Given the description of an element on the screen output the (x, y) to click on. 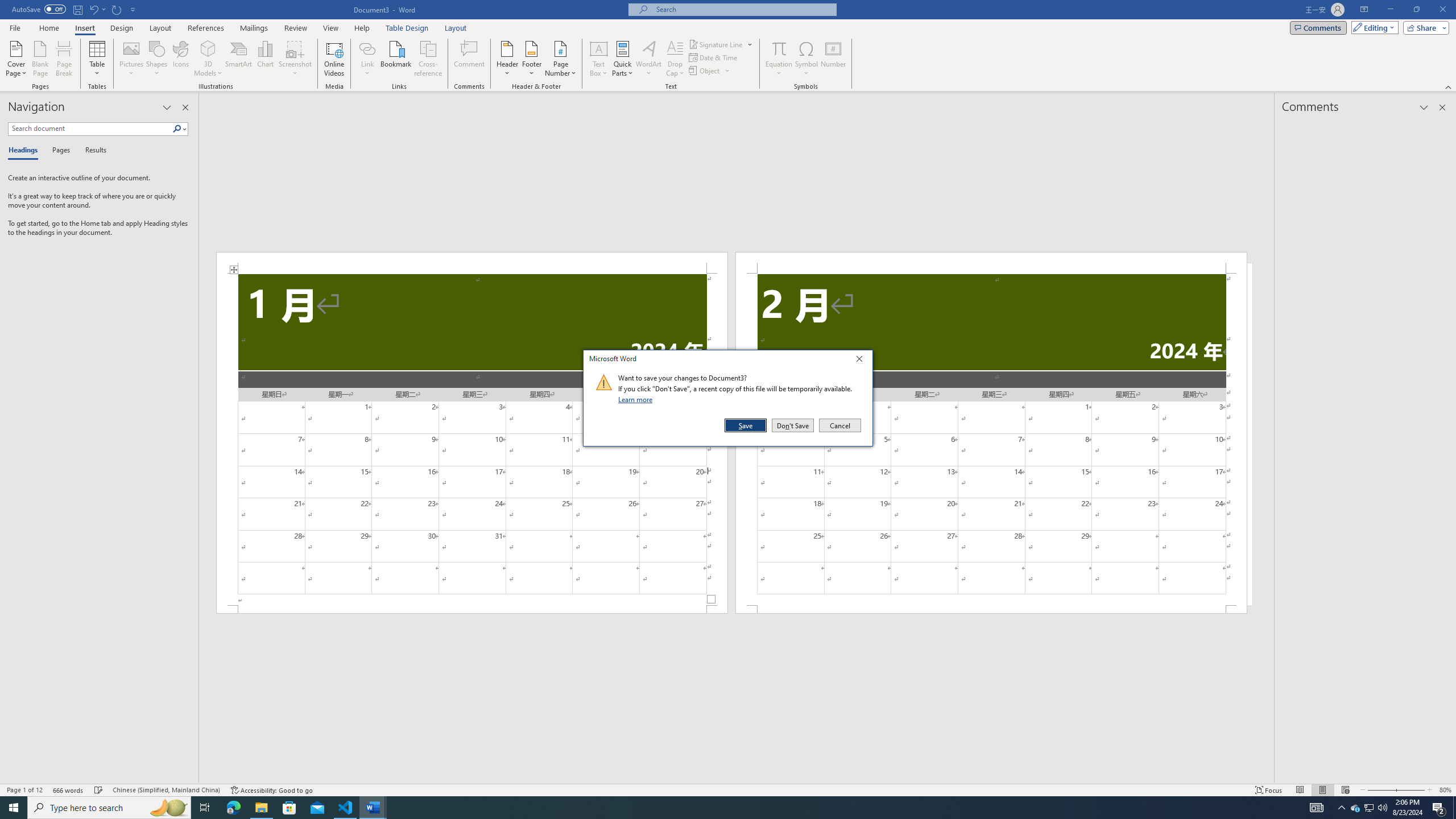
Link (367, 48)
Equation (778, 48)
Equation (778, 58)
Number... (833, 58)
Comment (469, 58)
